Given the description of an element on the screen output the (x, y) to click on. 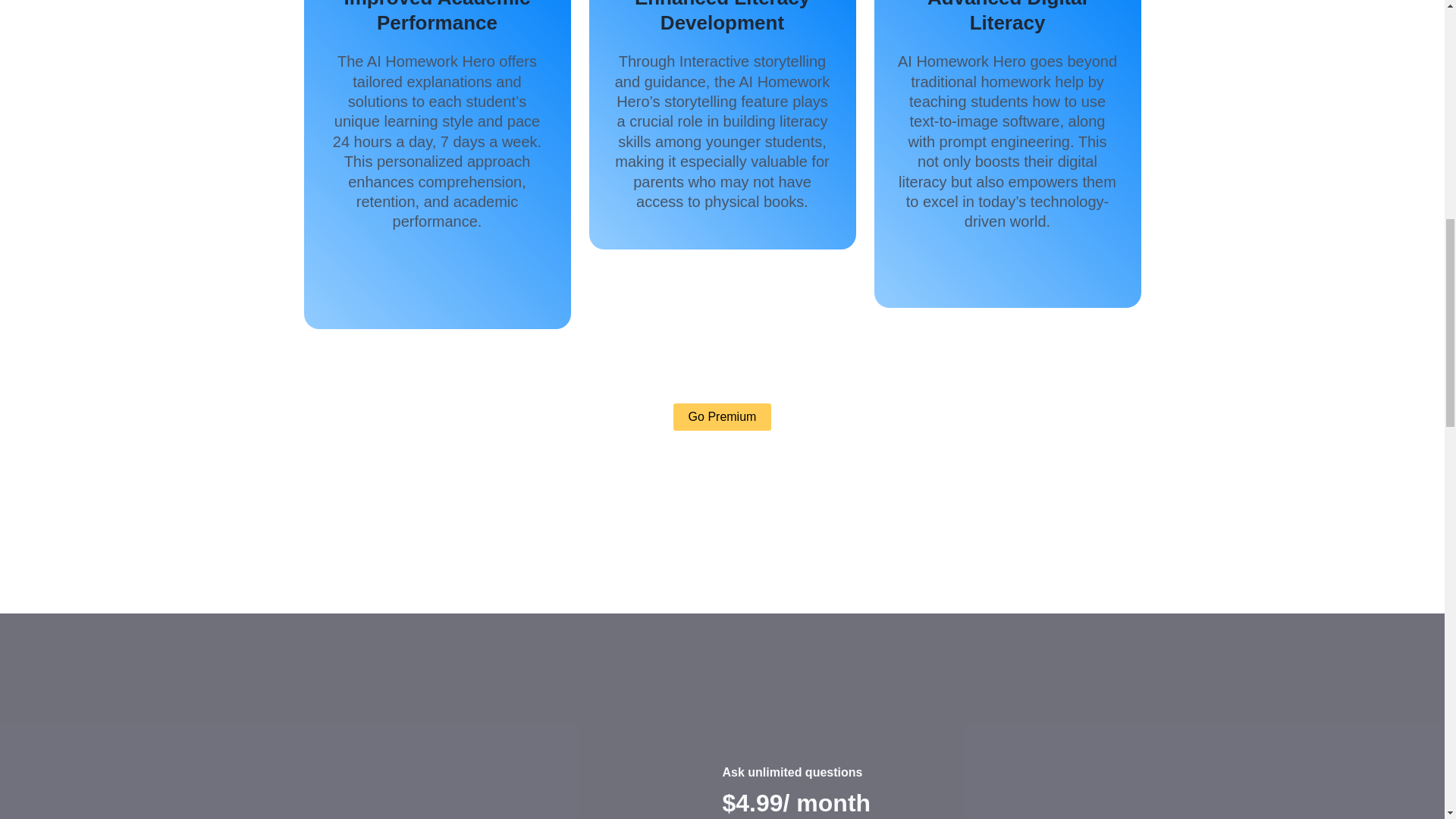
Go Premium (721, 416)
